Given the description of an element on the screen output the (x, y) to click on. 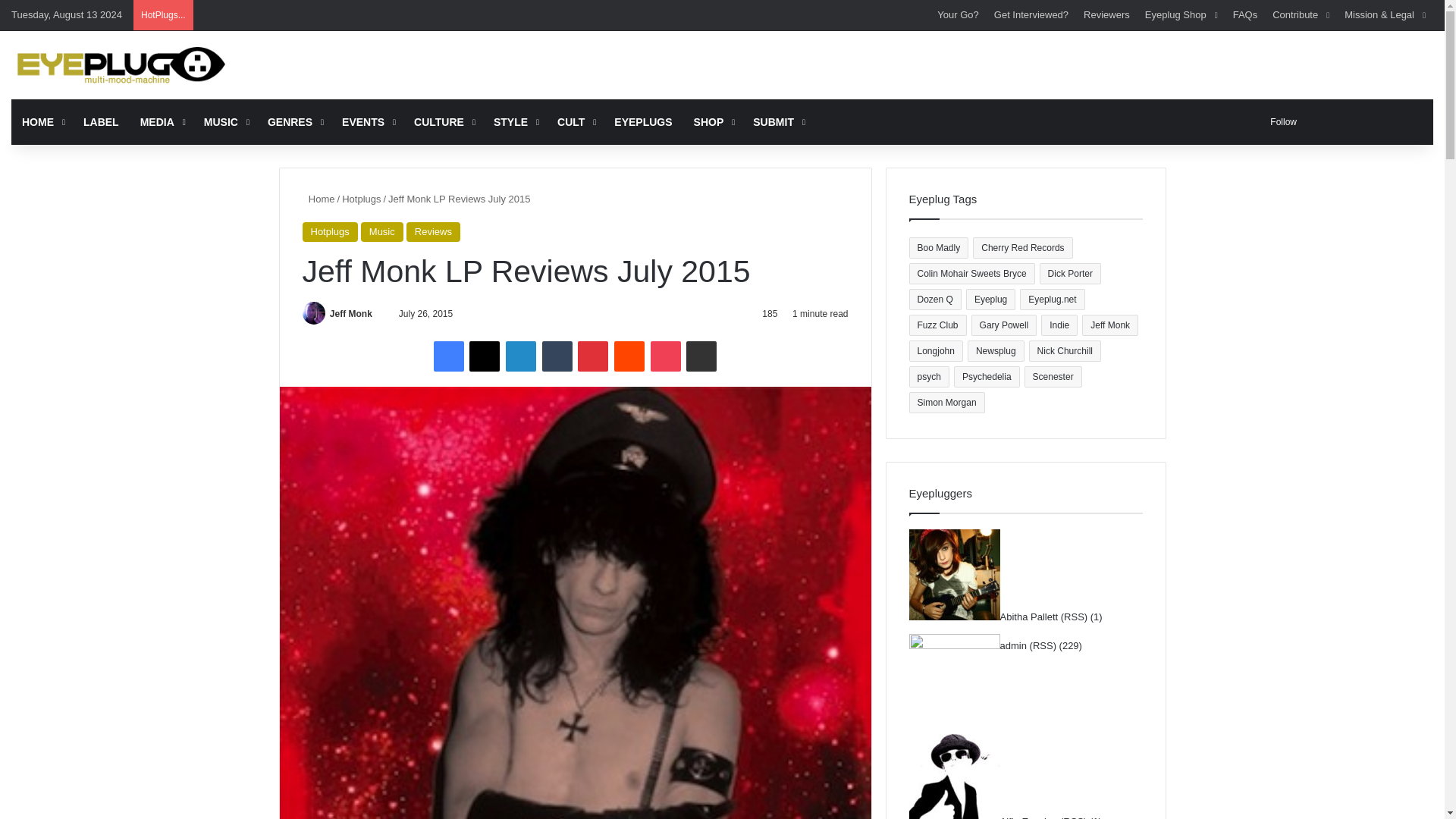
Share via Email (700, 356)
LinkedIn (520, 356)
Eyeplug Shop (1181, 15)
Reviewers (1106, 15)
Get Interviewed? (1031, 15)
Contribute (1300, 15)
Pocket (665, 356)
Jeff Monk (351, 313)
Your Go? (957, 15)
HOME (41, 121)
